Given the description of an element on the screen output the (x, y) to click on. 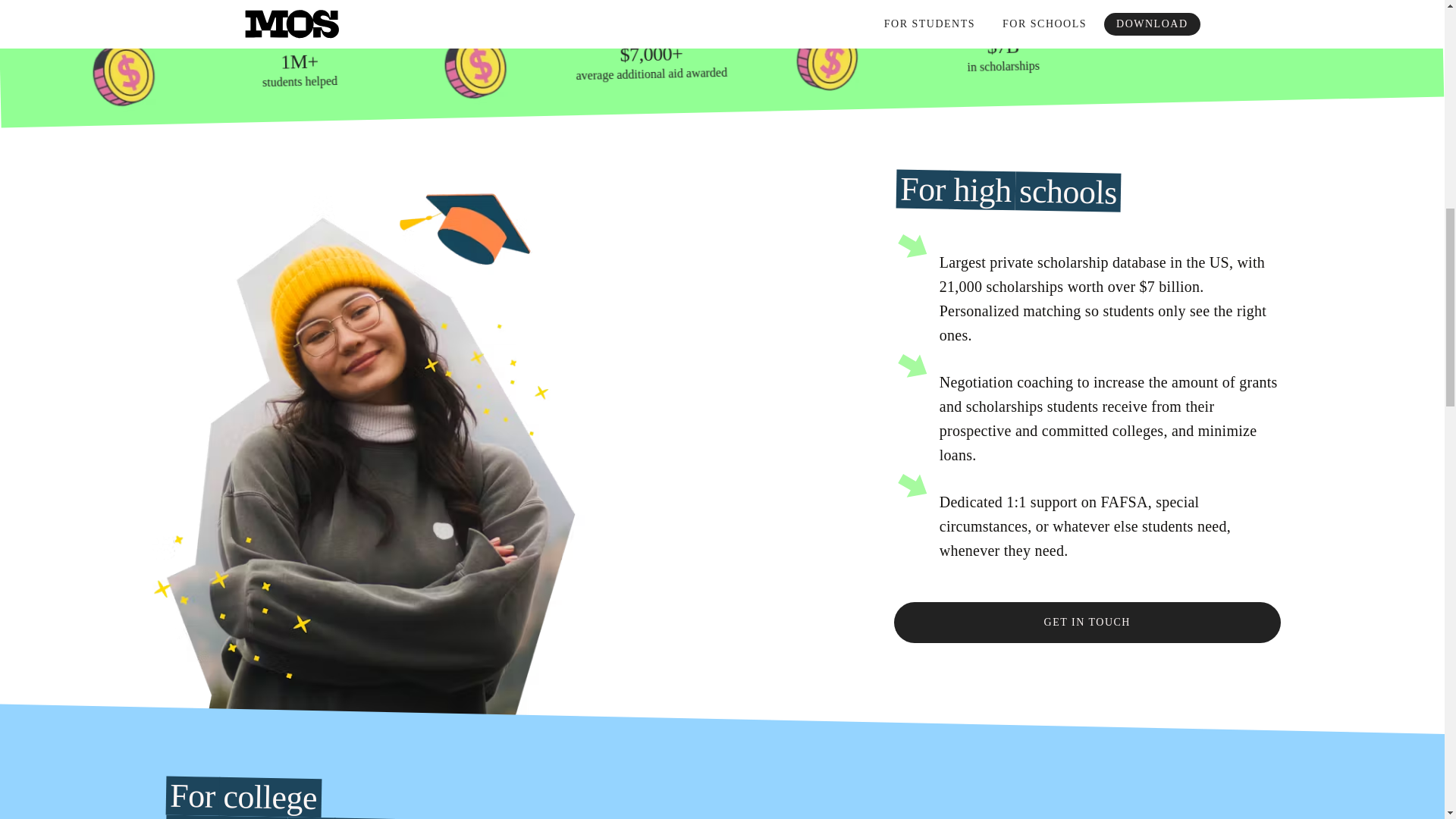
GET IN TOUCH (1087, 621)
